Given the description of an element on the screen output the (x, y) to click on. 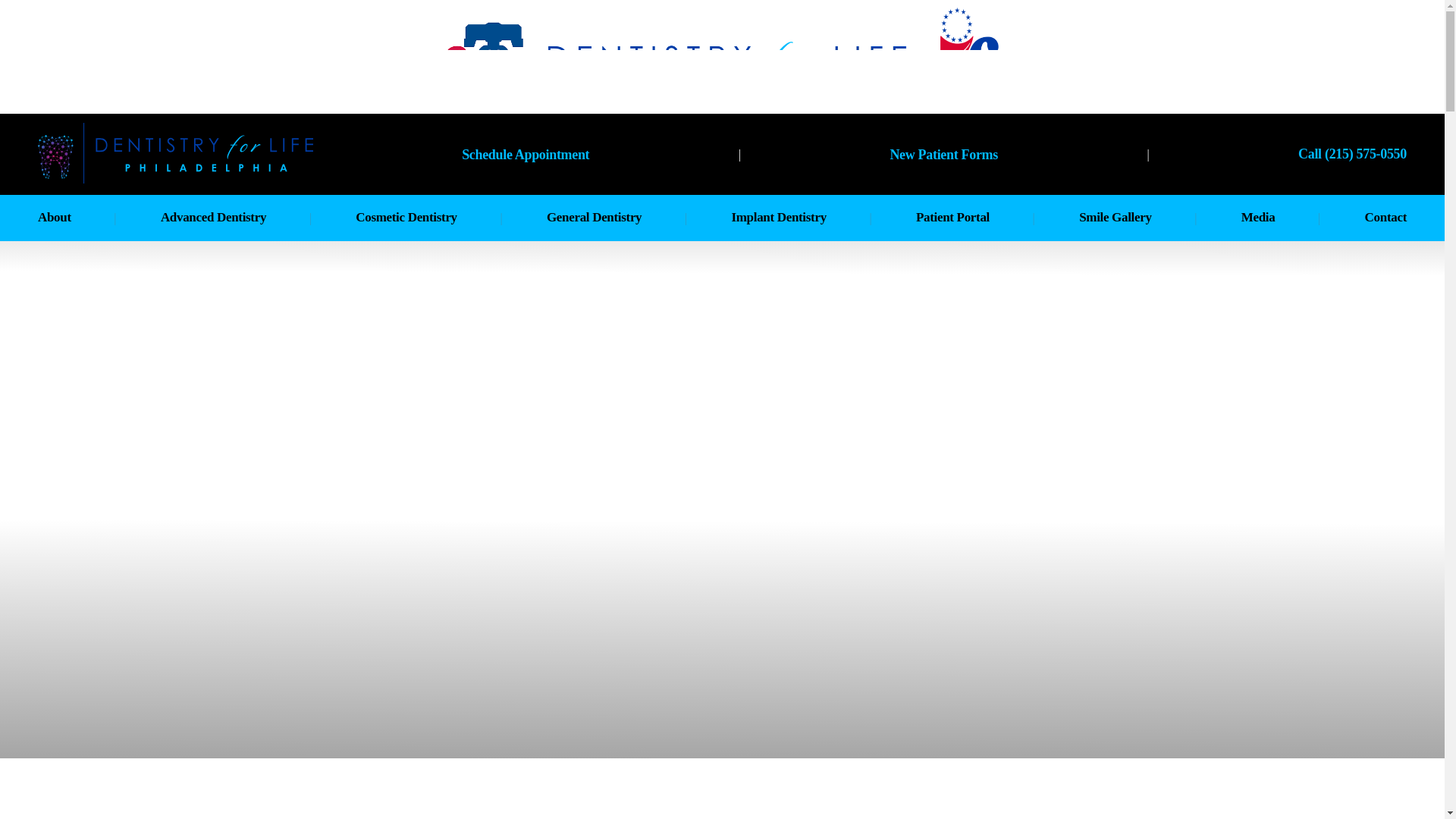
Meet the Team (108, 282)
Family Dentist (771, 375)
Take A Virtual Tour (108, 406)
Gum Health (771, 344)
New Patient Forms (943, 153)
About (54, 217)
Invisalign (405, 344)
Sedation Dentistry (239, 282)
Dental Restoration (405, 468)
Broken Teeth (606, 406)
Gummy Smile Lift (405, 406)
Wisdom Tooth Removal (606, 375)
Orthodontics (239, 344)
Dental Crowns (606, 468)
Official Dentist for the 76ers (108, 375)
